Given the description of an element on the screen output the (x, y) to click on. 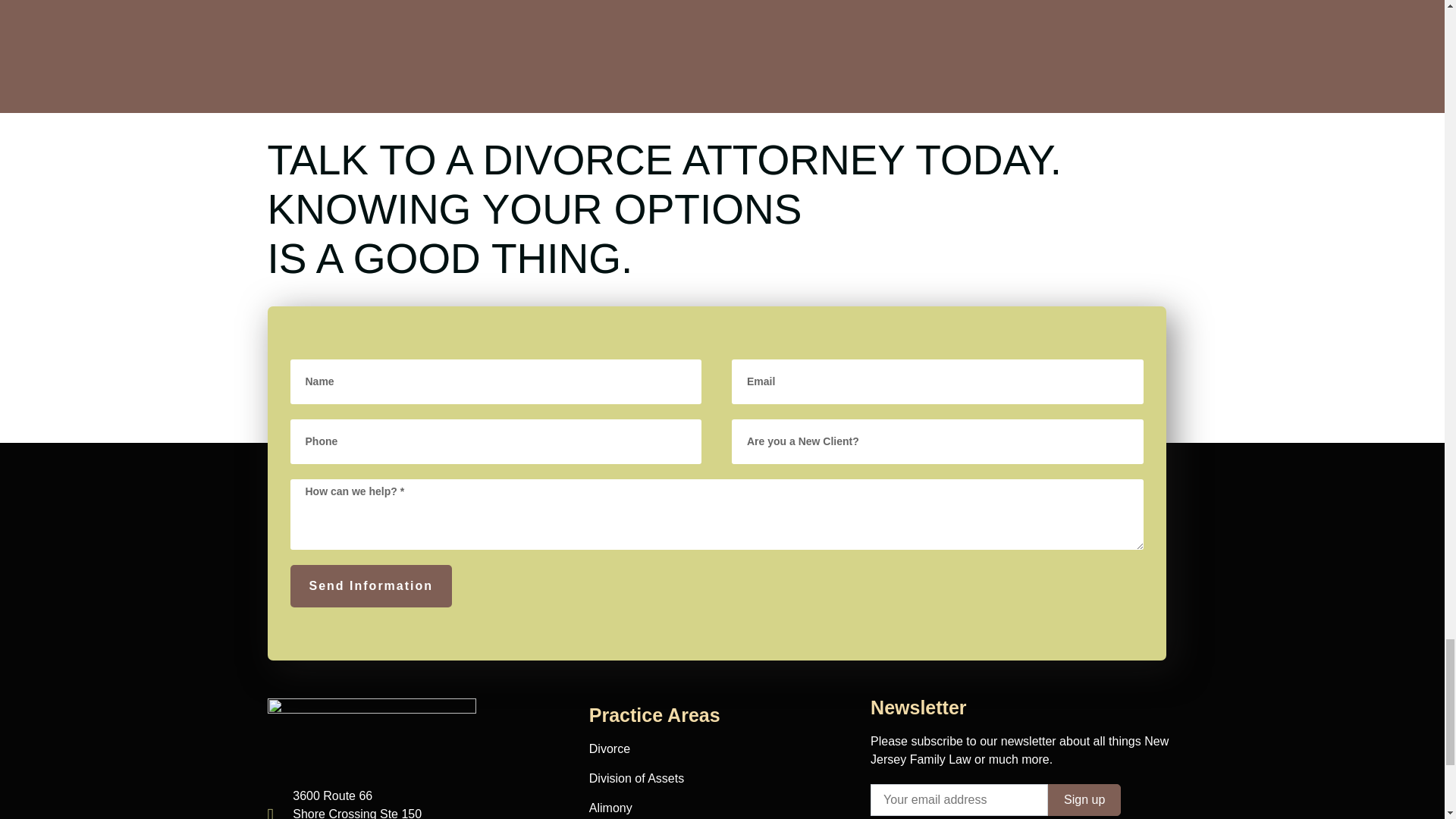
Sign up (1084, 799)
